Given the description of an element on the screen output the (x, y) to click on. 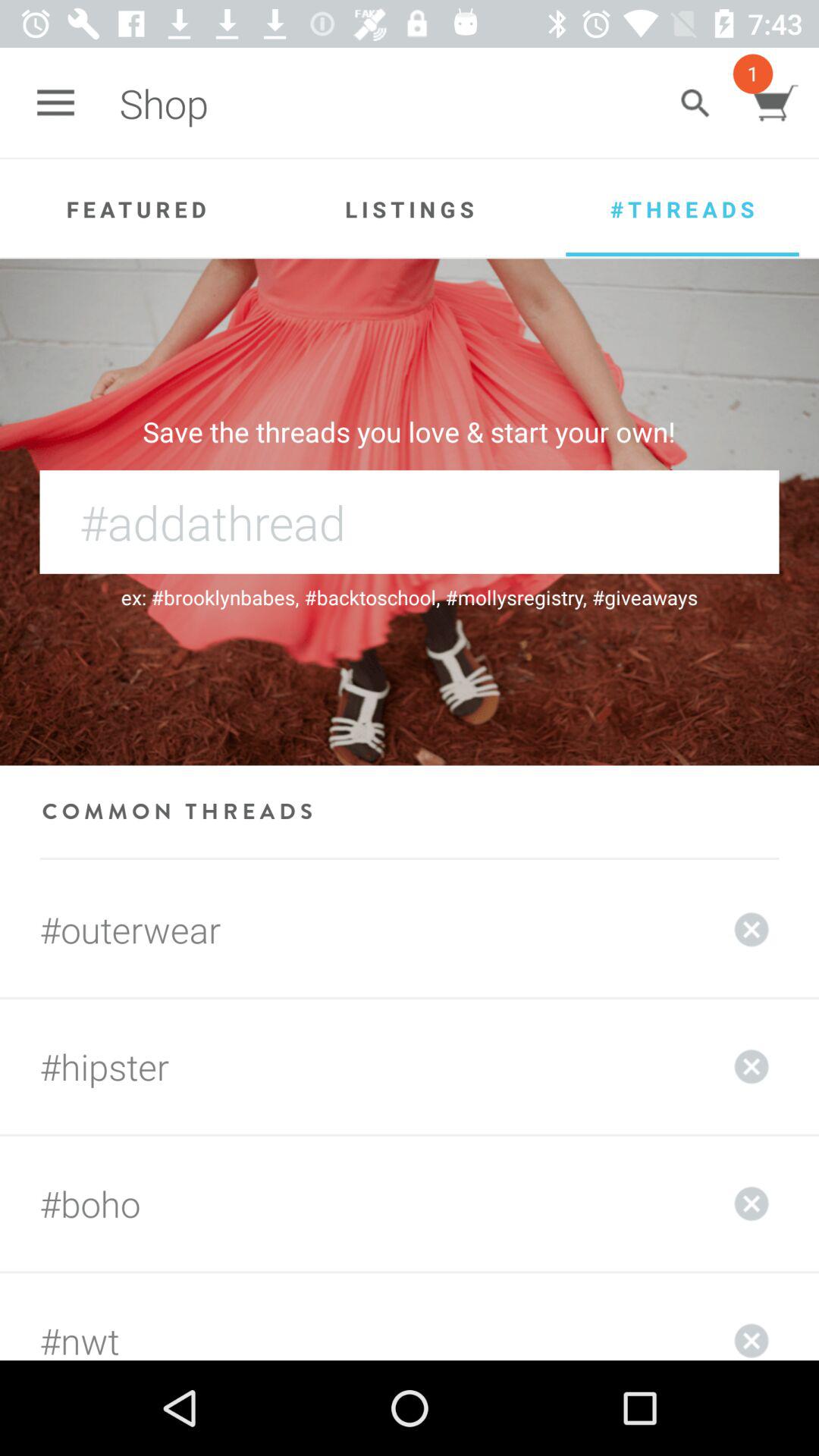
close the content (751, 929)
